Given the description of an element on the screen output the (x, y) to click on. 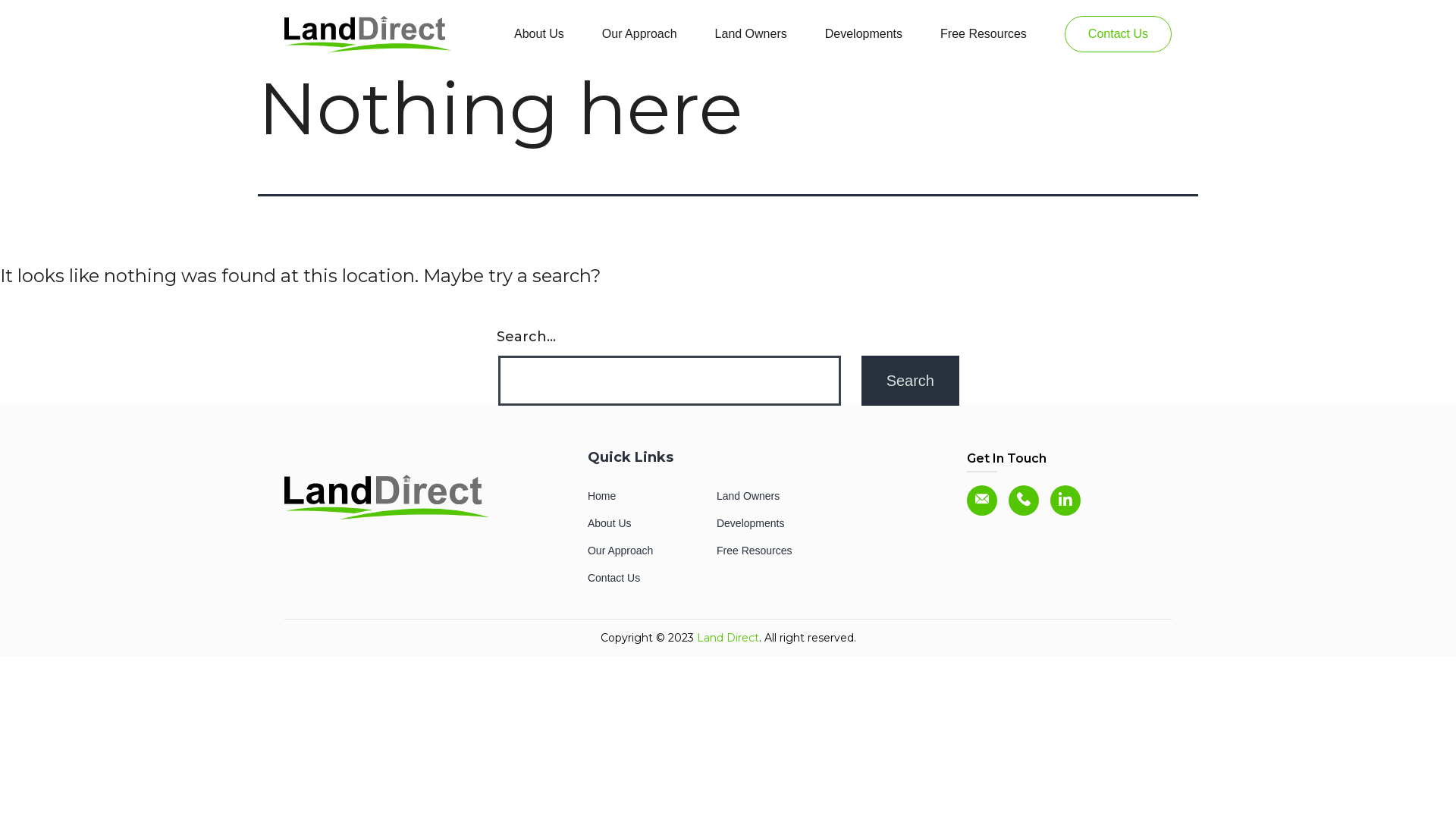
Developments Element type: text (863, 33)
Contact Us Element type: text (1117, 33)
Free Resources Element type: text (983, 33)
Our Approach Element type: text (639, 33)
About Us Element type: text (539, 33)
Home Element type: text (601, 495)
Our Approach Element type: text (619, 550)
Free Resources Element type: text (754, 550)
Land Owners Element type: text (747, 495)
Land Owners Element type: text (751, 33)
Developments Element type: text (750, 523)
About Us Element type: text (609, 523)
Contact Us Element type: text (613, 577)
Search Element type: text (910, 380)
Land Direct Element type: text (727, 637)
